Given the description of an element on the screen output the (x, y) to click on. 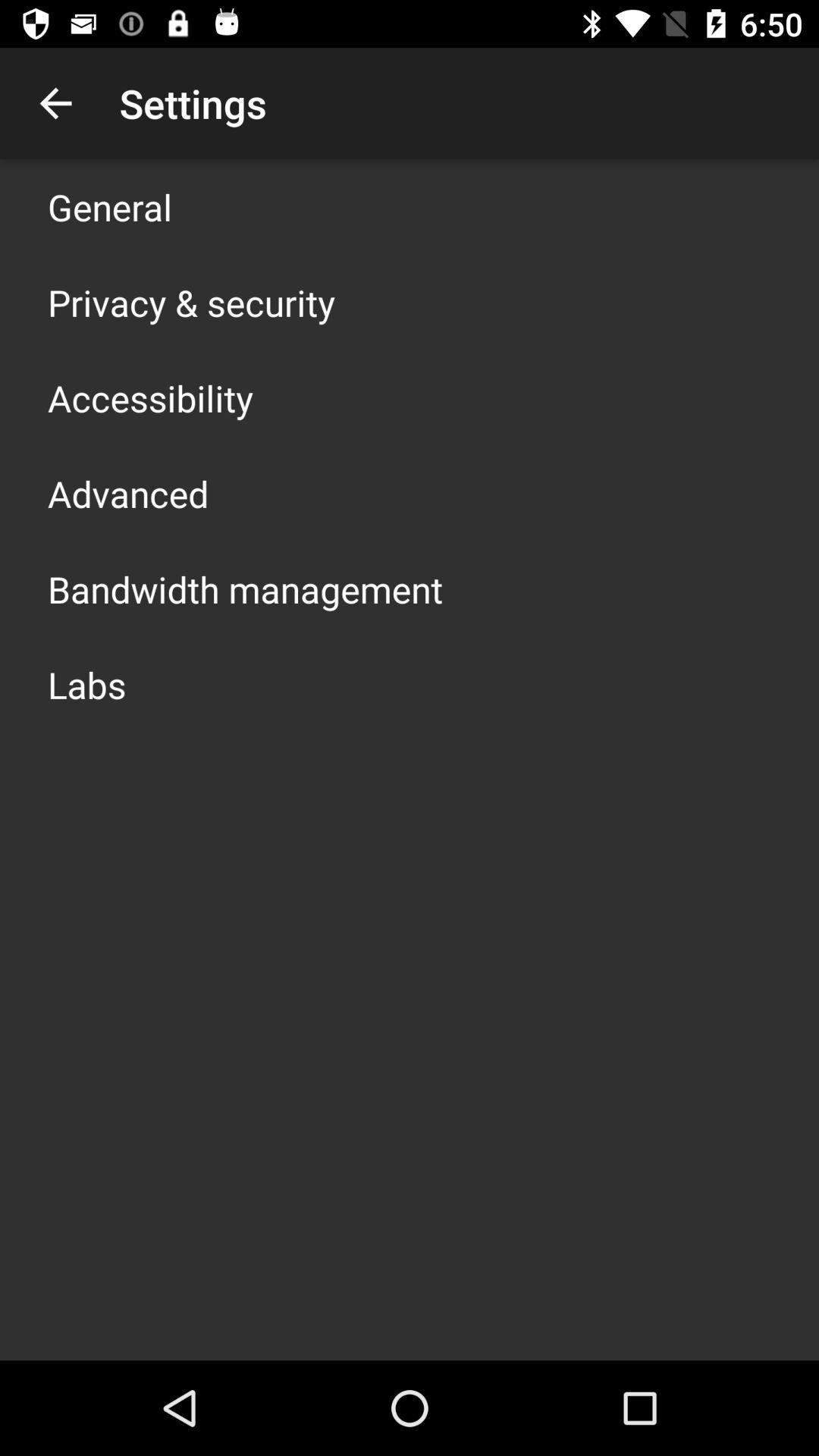
tap the item above privacy & security icon (109, 206)
